Given the description of an element on the screen output the (x, y) to click on. 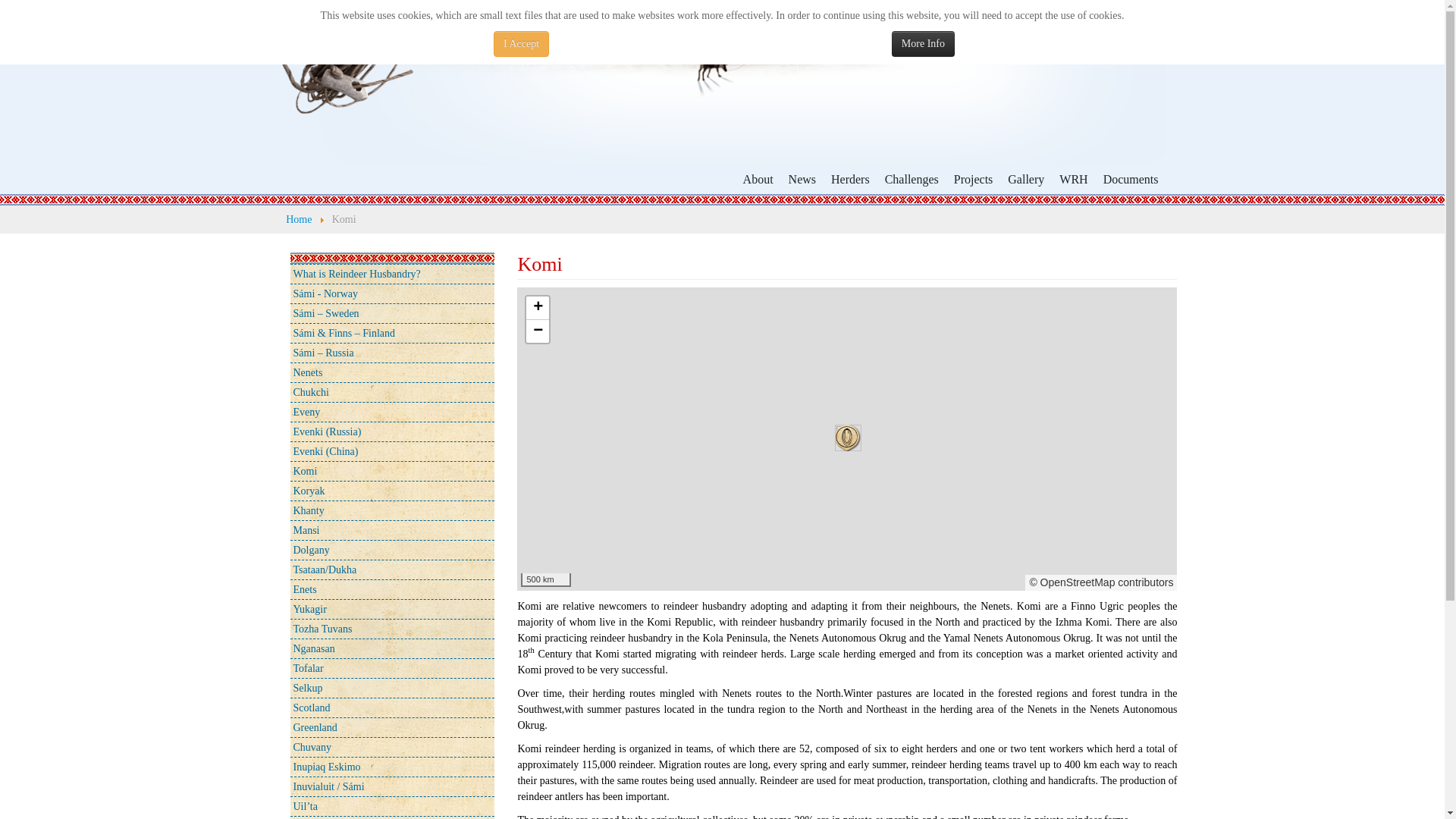
Challenges (911, 179)
Herders (850, 179)
Zoom out (536, 331)
About (757, 179)
Koryak (392, 489)
What is Reindeer Husbandry? (392, 273)
Reindeer Herding (722, 81)
Gallery (1025, 179)
WRH (1072, 179)
Komi (392, 470)
Eveny (392, 411)
I Accept (520, 43)
Zoom in (536, 307)
Projects (973, 179)
Chukchi (392, 391)
